Given the description of an element on the screen output the (x, y) to click on. 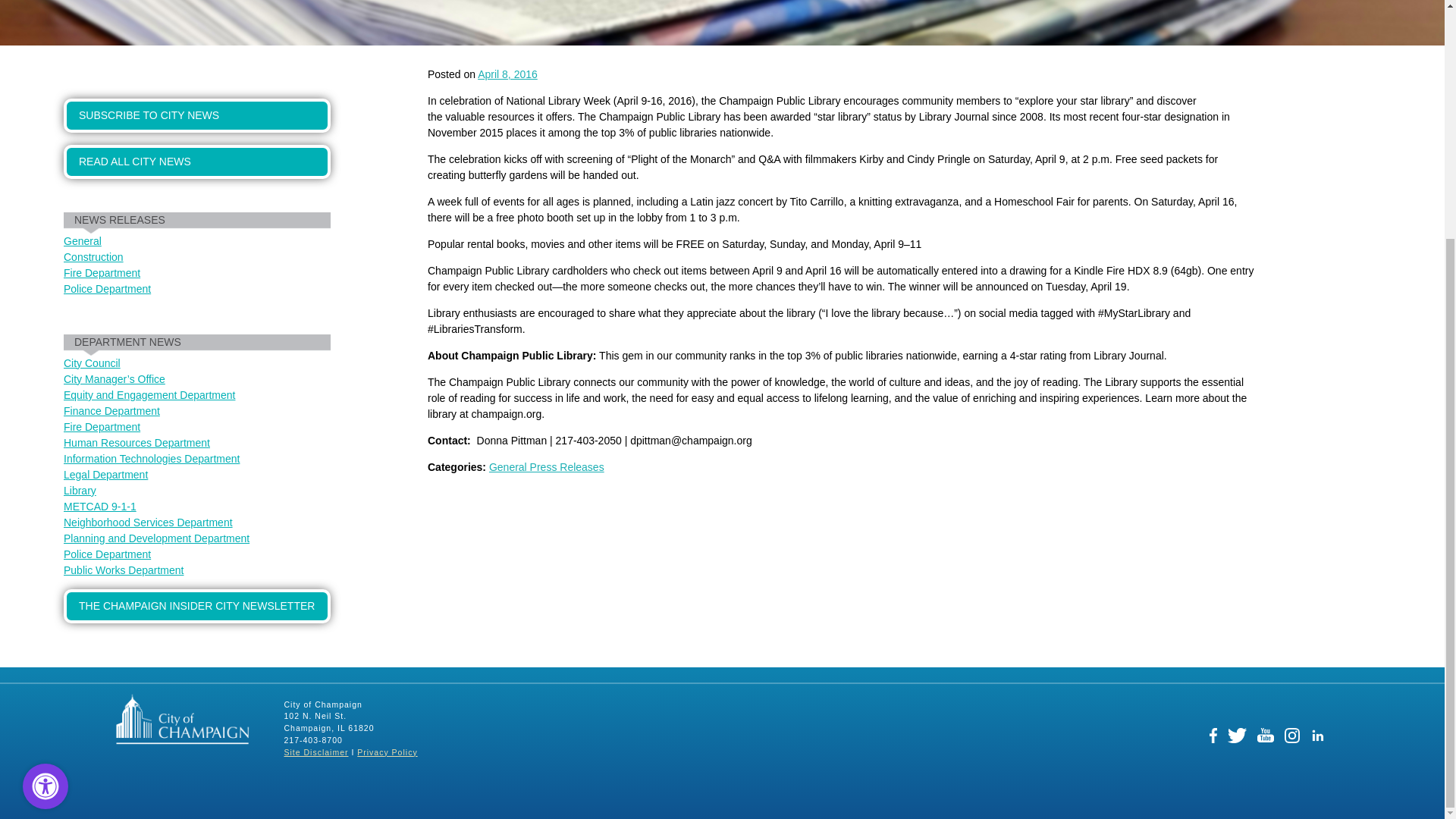
April 8, 2016 (507, 73)
READ ALL CITY NEWS (196, 162)
SUBSCRIBE TO CITY NEWS (196, 115)
General Press Releases (546, 467)
